Given the description of an element on the screen output the (x, y) to click on. 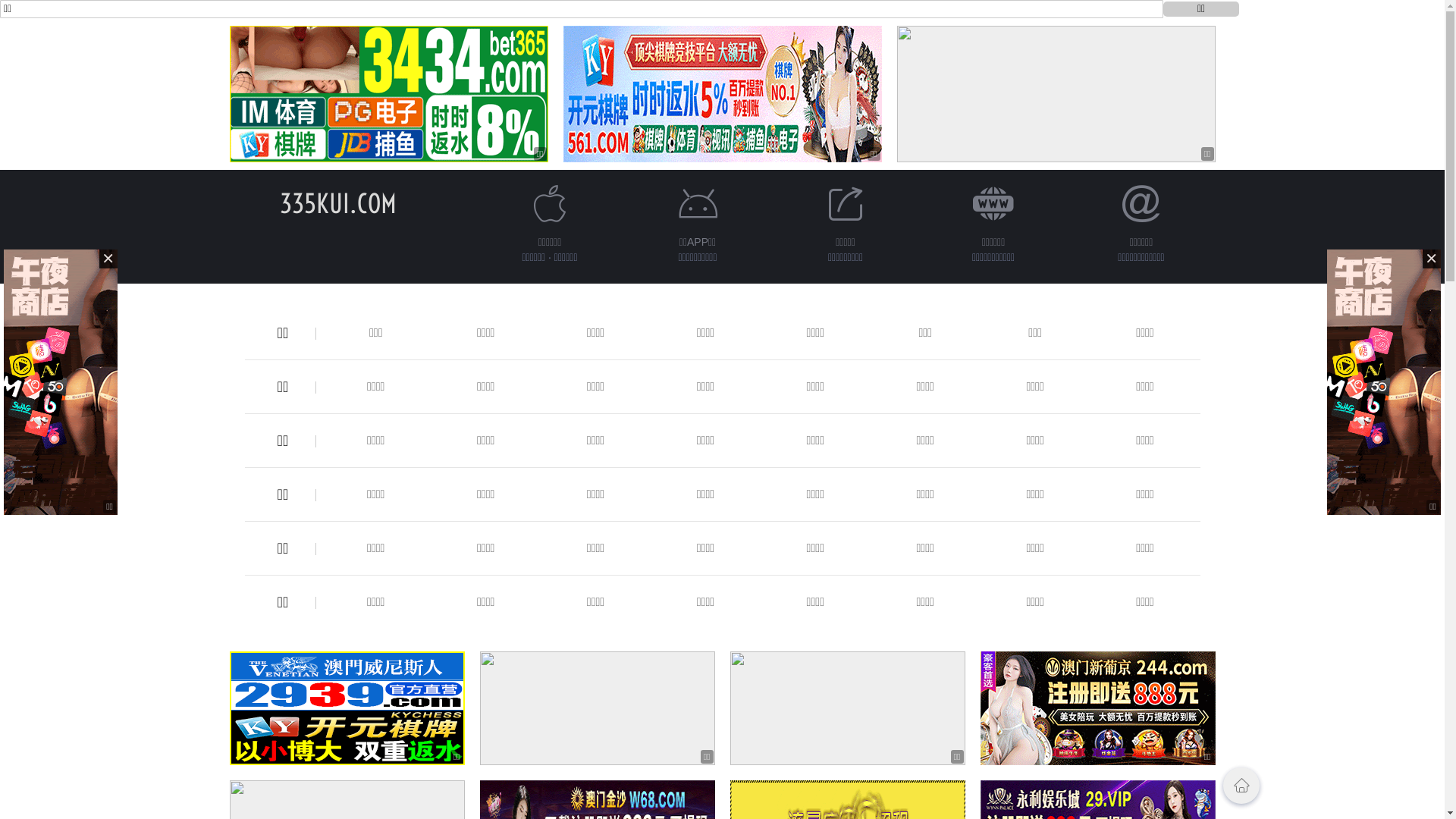
335KUI.COM Element type: text (337, 203)
